Given the description of an element on the screen output the (x, y) to click on. 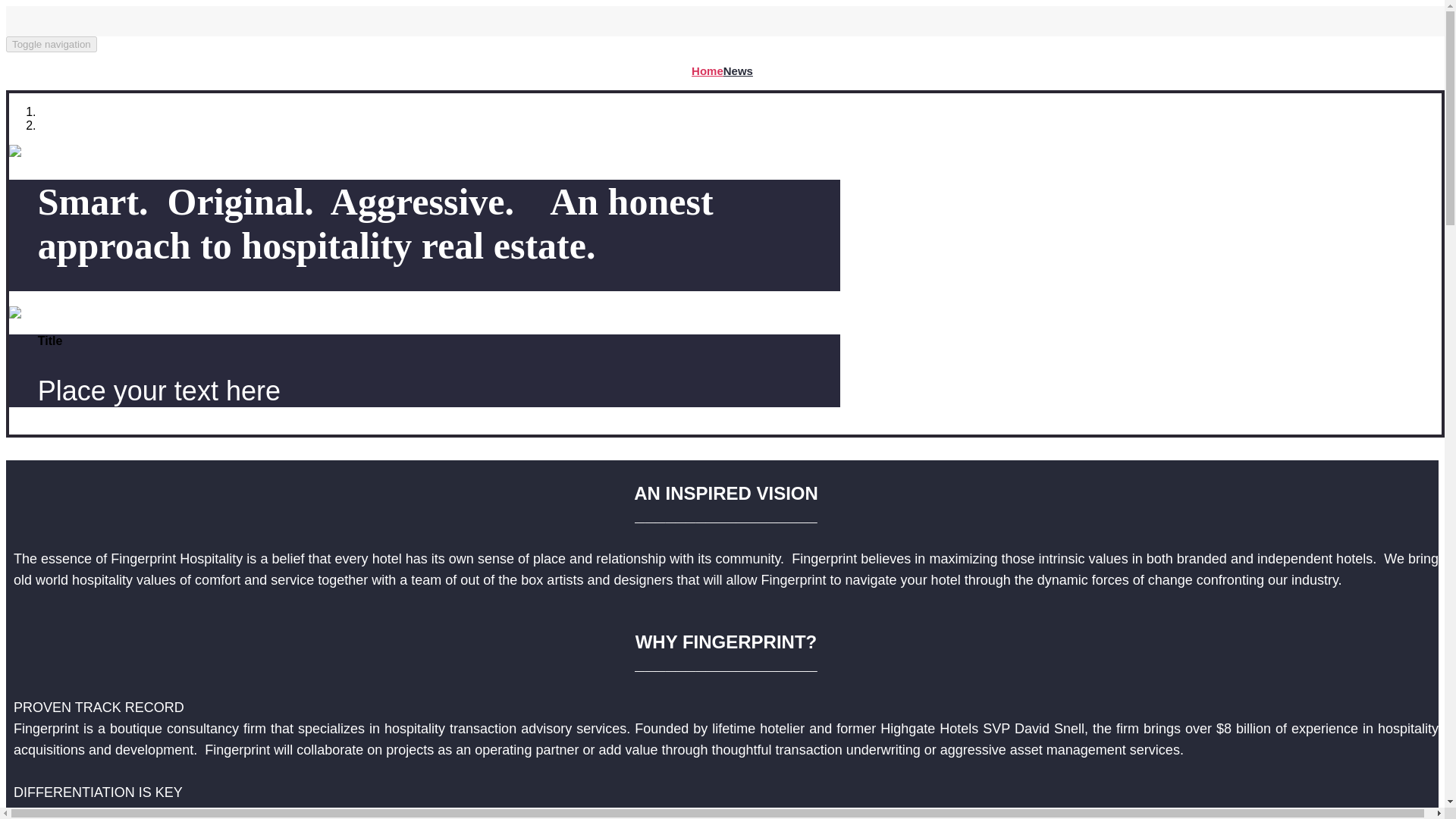
Home (707, 70)
News (737, 70)
Toggle navigation (51, 44)
